Given the description of an element on the screen output the (x, y) to click on. 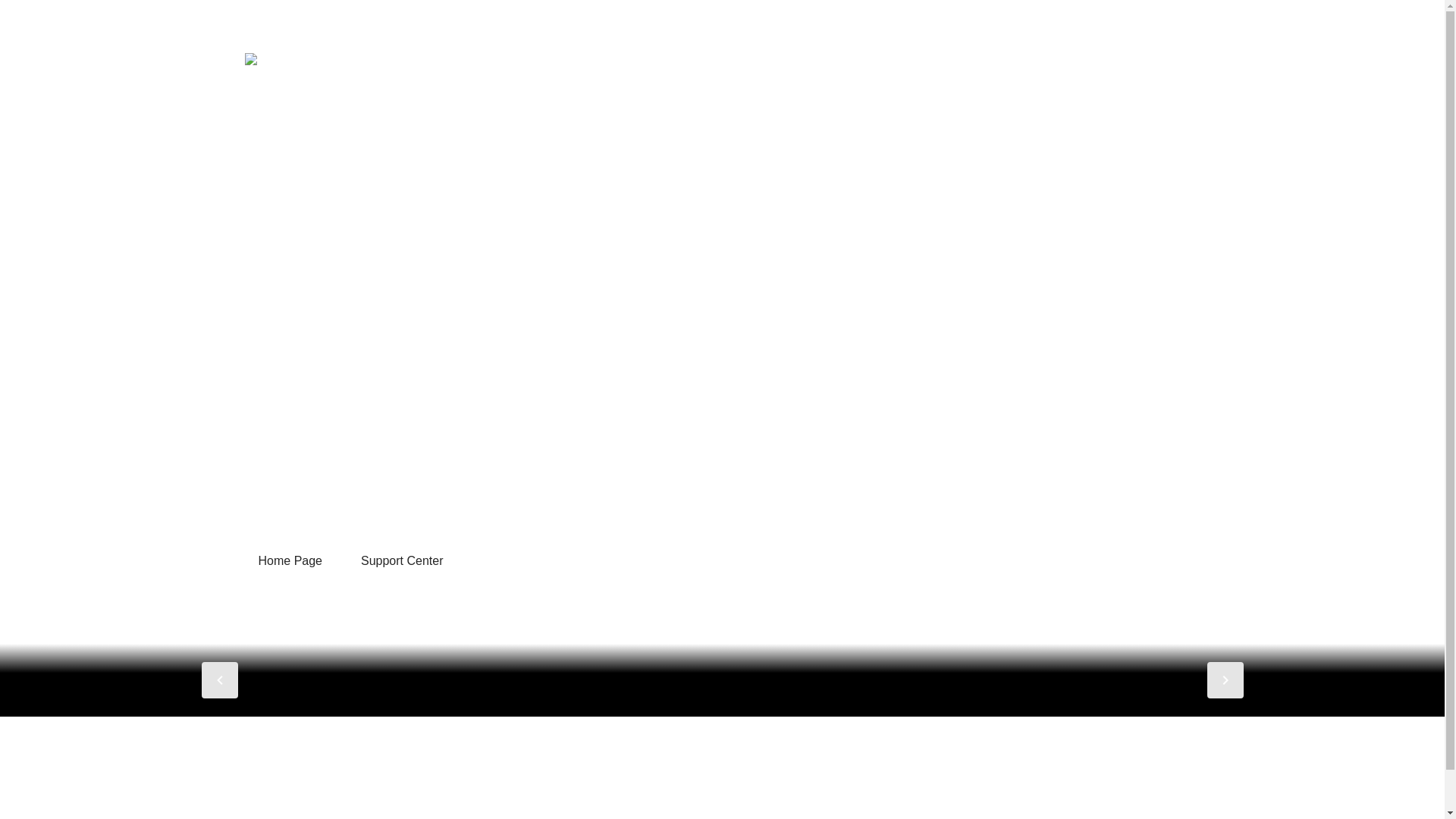
Home Page (290, 560)
Support Center (402, 560)
